Given the description of an element on the screen output the (x, y) to click on. 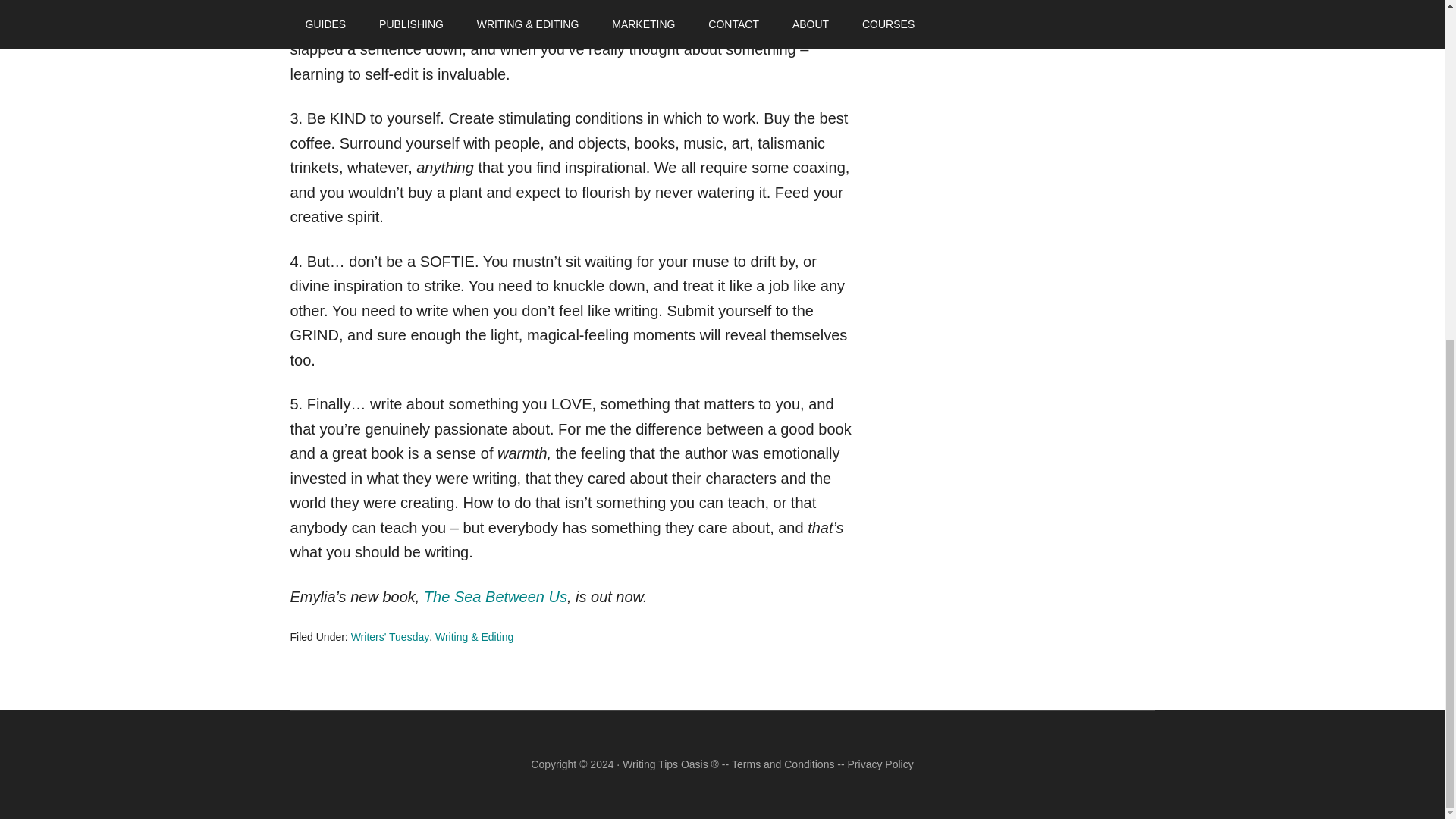
Writers' Tuesday (389, 636)
The Sea Between Us by Emylia Hall (495, 596)
Terms and Conditions (783, 764)
The Sea Between Us (495, 596)
Privacy Policy (880, 764)
Emylia Hall (768, 11)
